Given the description of an element on the screen output the (x, y) to click on. 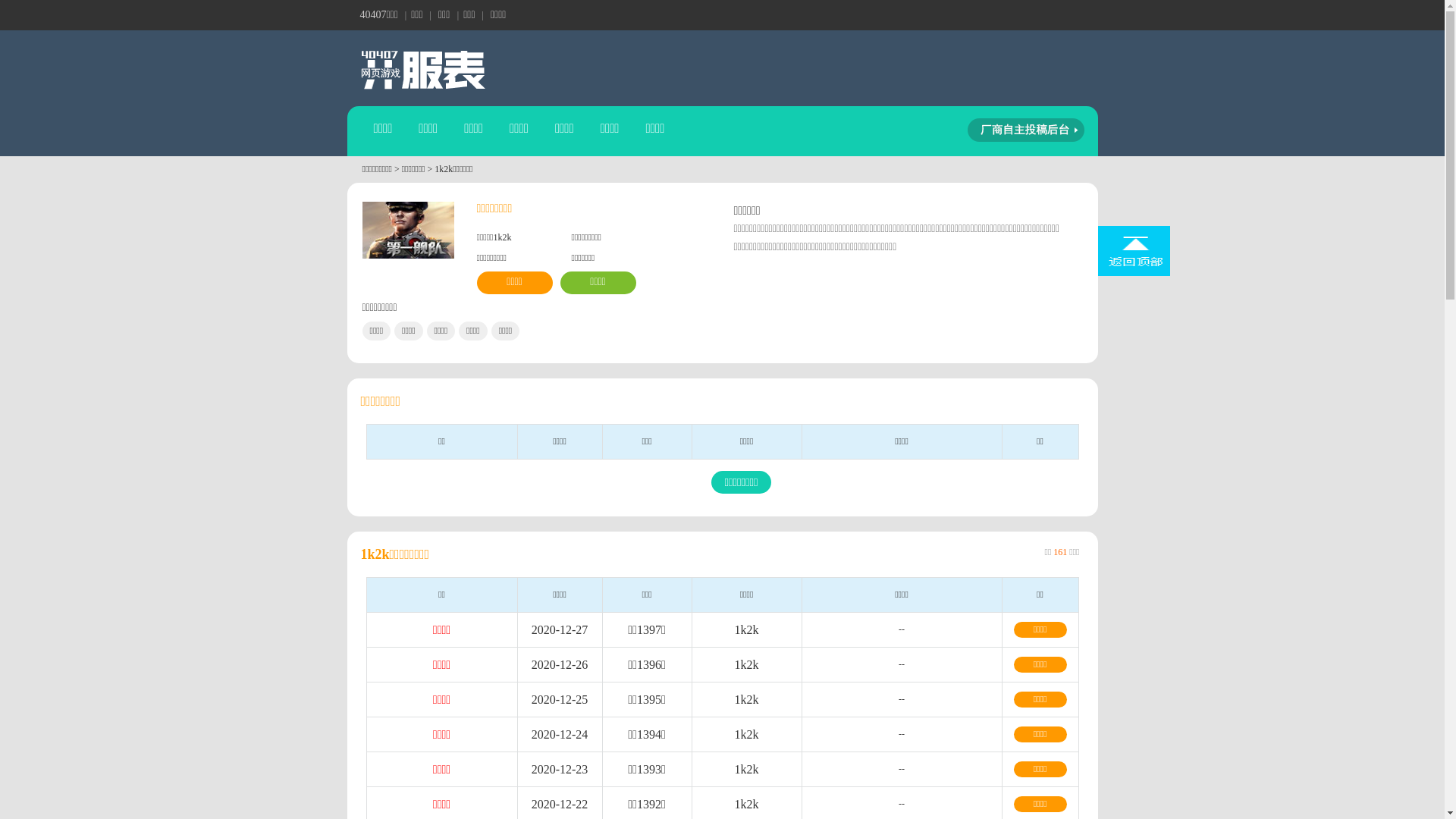
1k2k Element type: text (746, 734)
161 Element type: text (1059, 551)
1k2k Element type: text (746, 629)
1k2k Element type: text (746, 768)
1k2k Element type: text (746, 699)
1k2k Element type: text (746, 803)
1k2k Element type: text (746, 664)
